Given the description of an element on the screen output the (x, y) to click on. 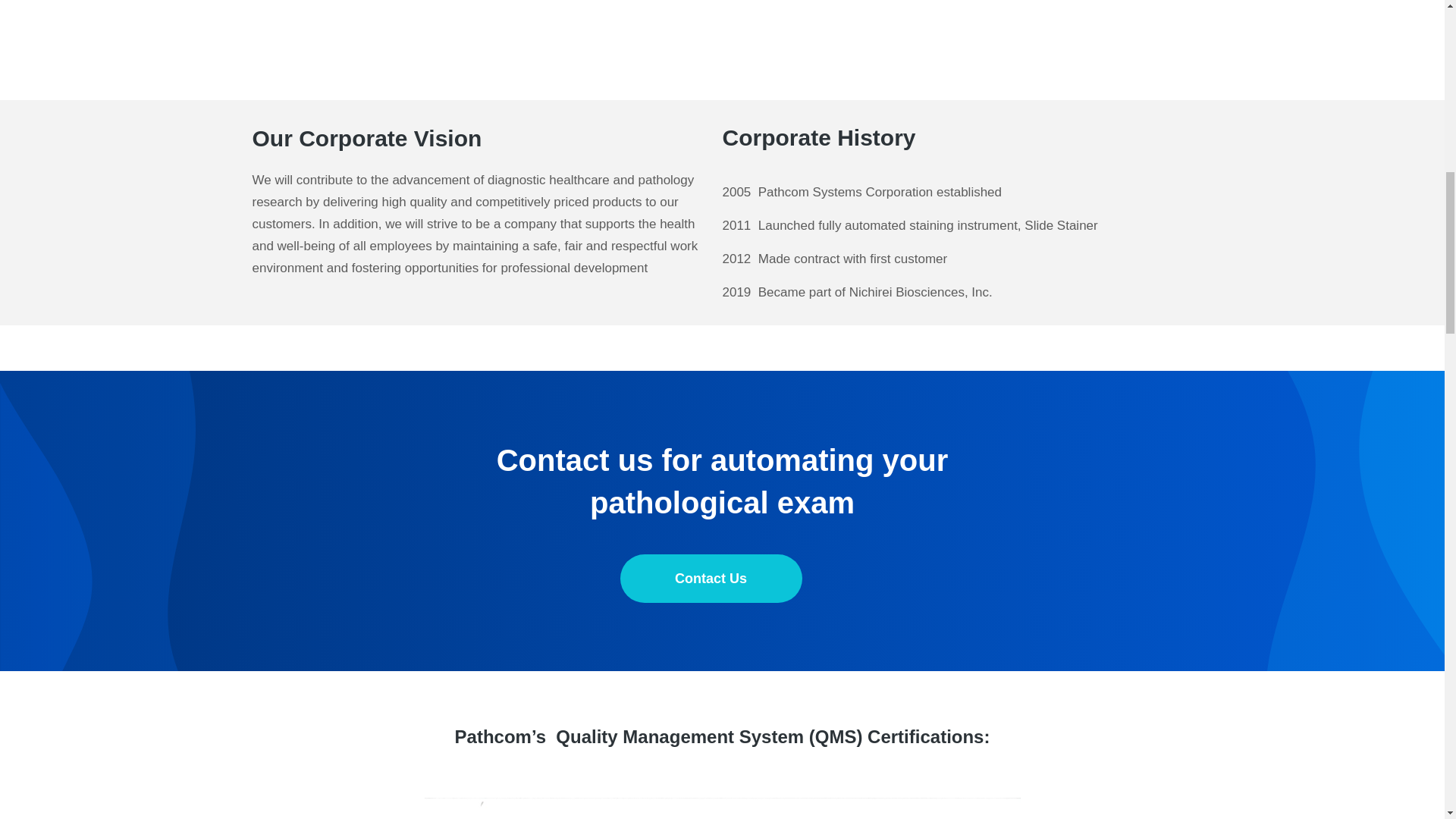
Contact Us (711, 578)
